Given the description of an element on the screen output the (x, y) to click on. 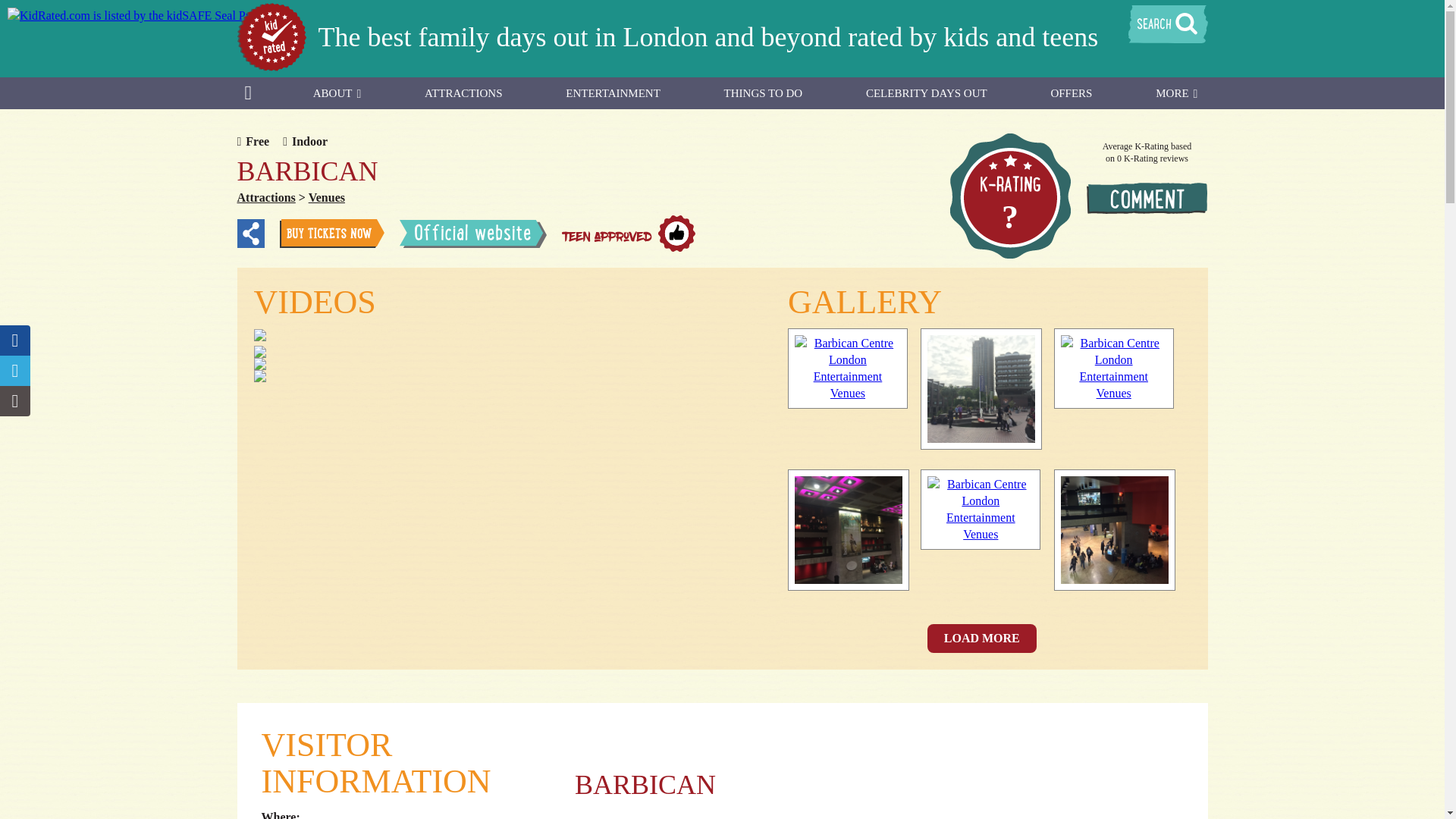
Skip to content (758, 85)
MORE (1176, 92)
KidRated (270, 66)
Search (1168, 25)
CELEBRITY DAYS OUT (926, 92)
THINGS TO DO (763, 92)
OFFERS (1071, 92)
ABOUT (336, 92)
Skip to content (758, 85)
ATTRACTIONS (463, 92)
Kidrated (270, 37)
ENTERTAINMENT (612, 92)
Attractions (265, 196)
Venues (326, 196)
